Given the description of an element on the screen output the (x, y) to click on. 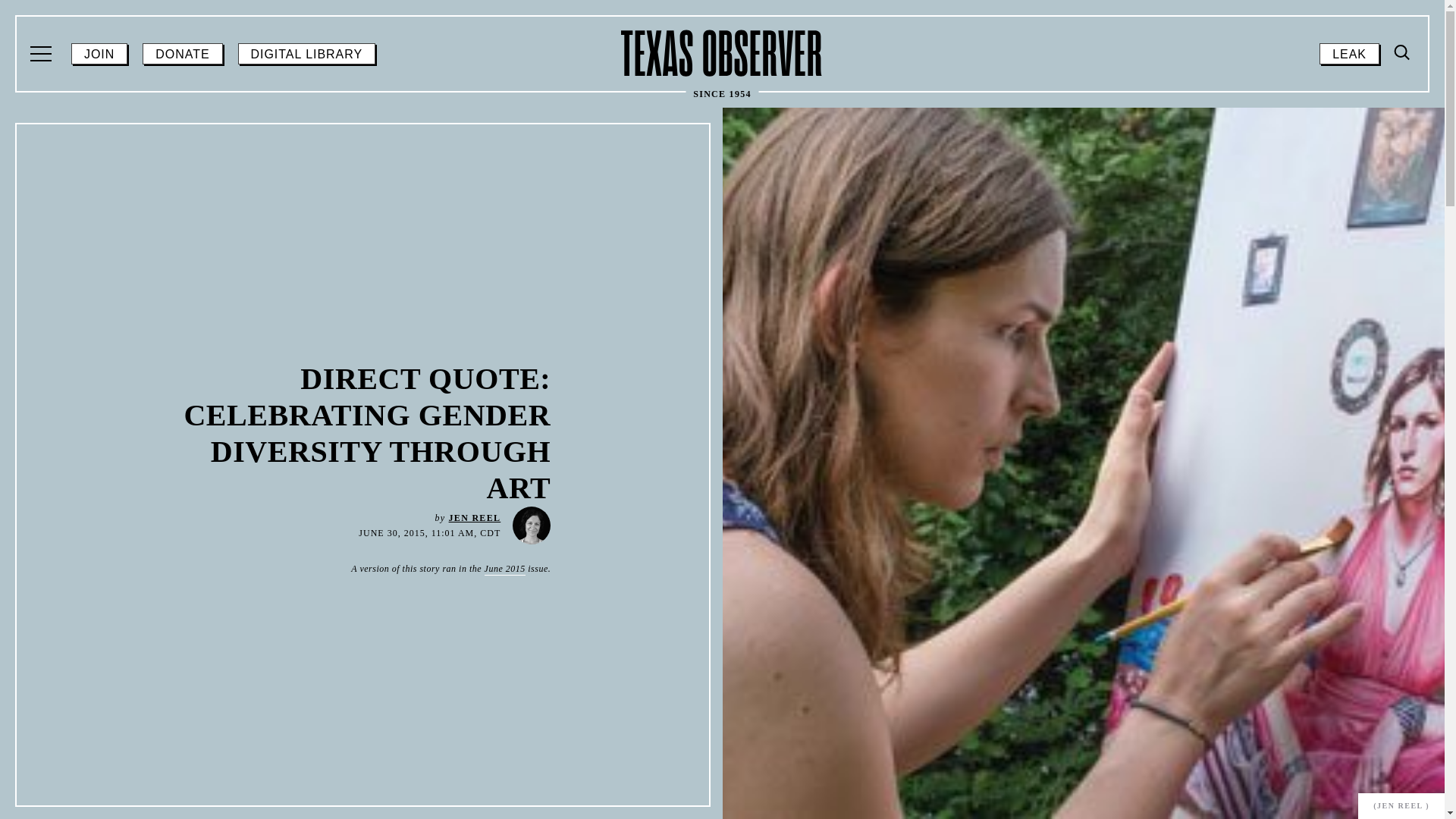
The Texas Observer (721, 53)
SEARCH (1400, 179)
DIGITAL LIBRARY (306, 53)
Search icon (1402, 51)
DONATE (182, 53)
JOIN (99, 53)
LEAK (1402, 53)
Posts by Jen Reel (1348, 53)
Toggle Menu (474, 517)
